Given the description of an element on the screen output the (x, y) to click on. 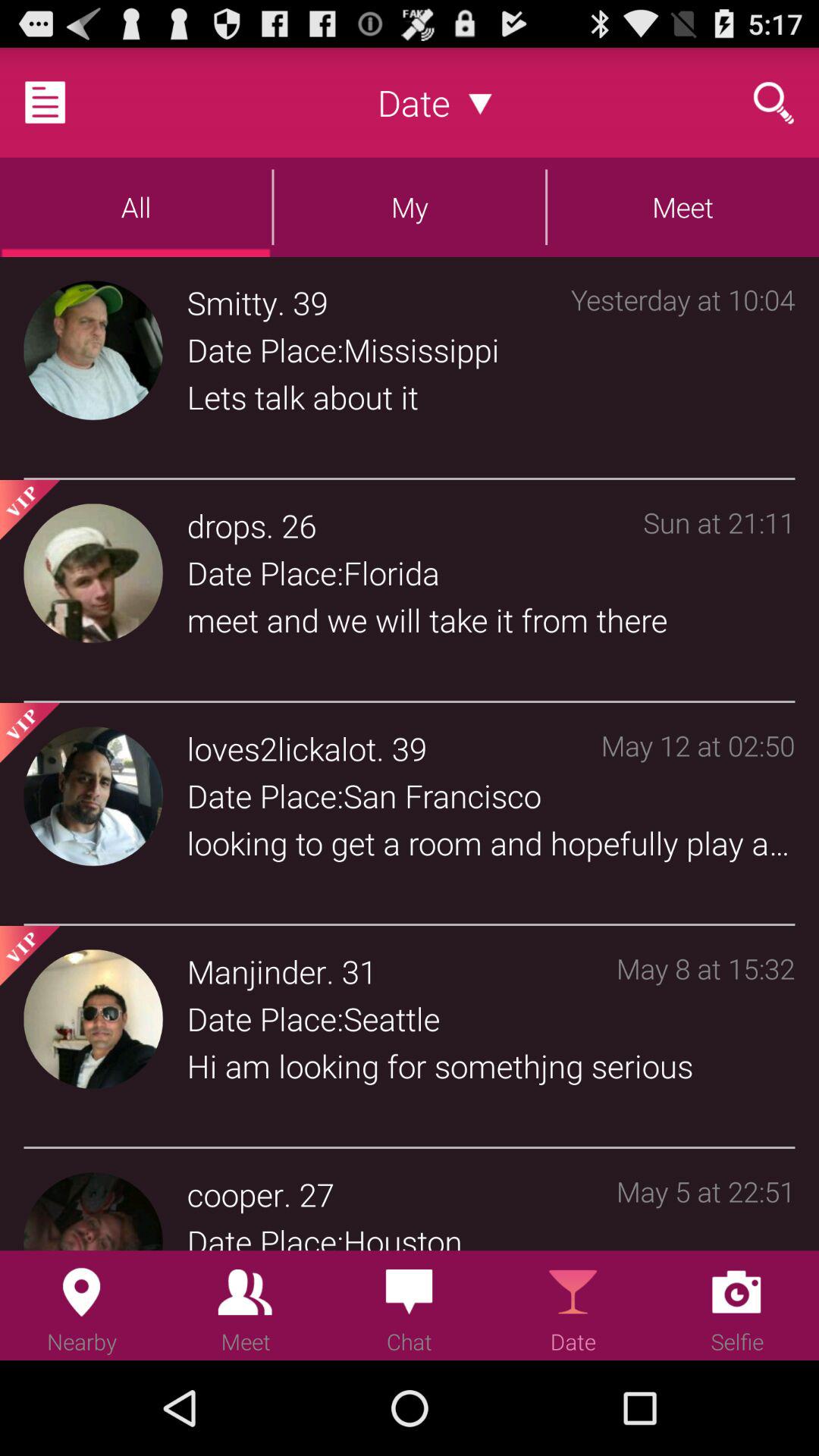
click icon next to the may 5 at item (316, 1193)
